Given the description of an element on the screen output the (x, y) to click on. 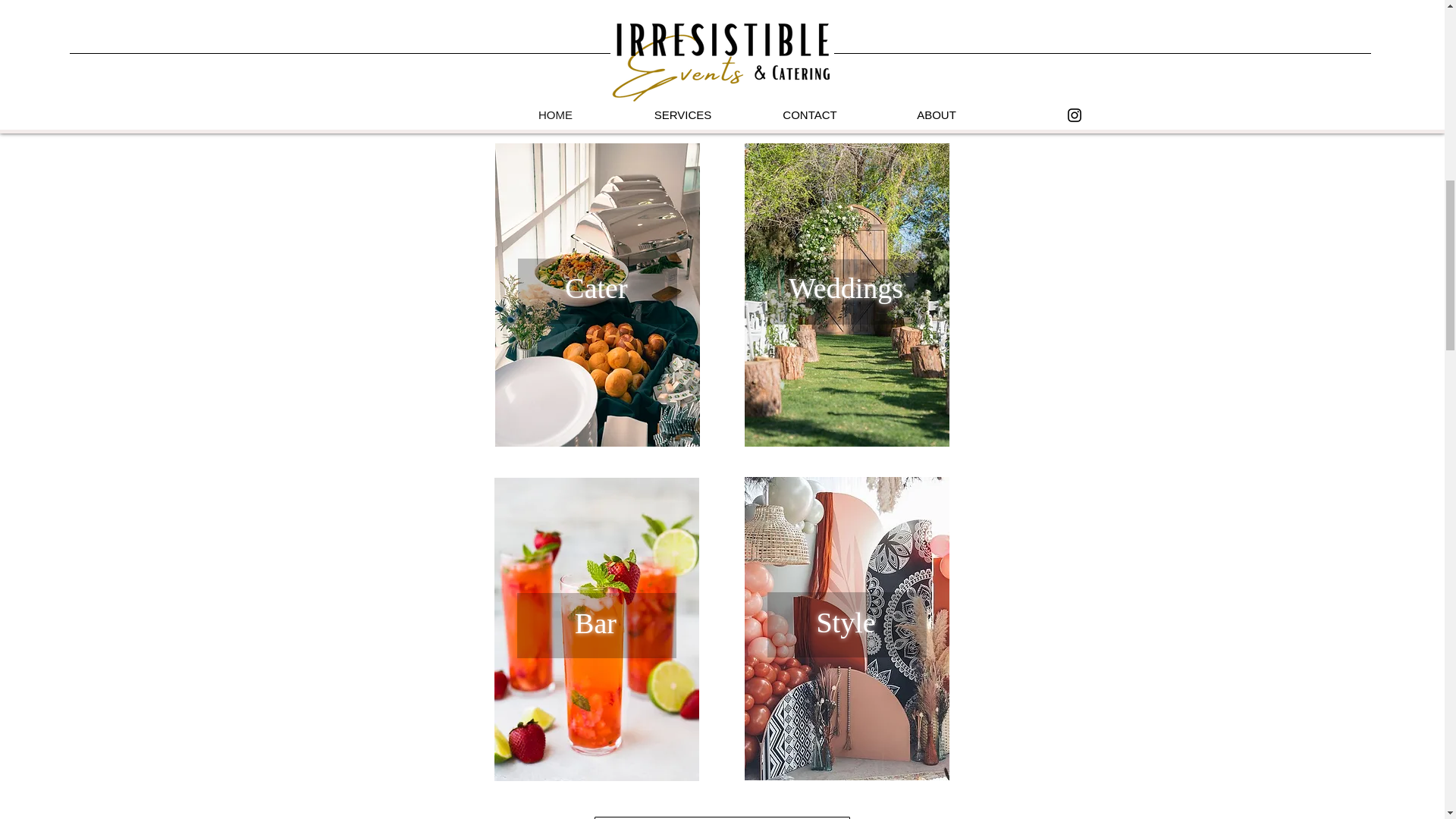
Weddings (845, 287)
Cater (595, 287)
Bar (595, 623)
Style (845, 622)
